Given the description of an element on the screen output the (x, y) to click on. 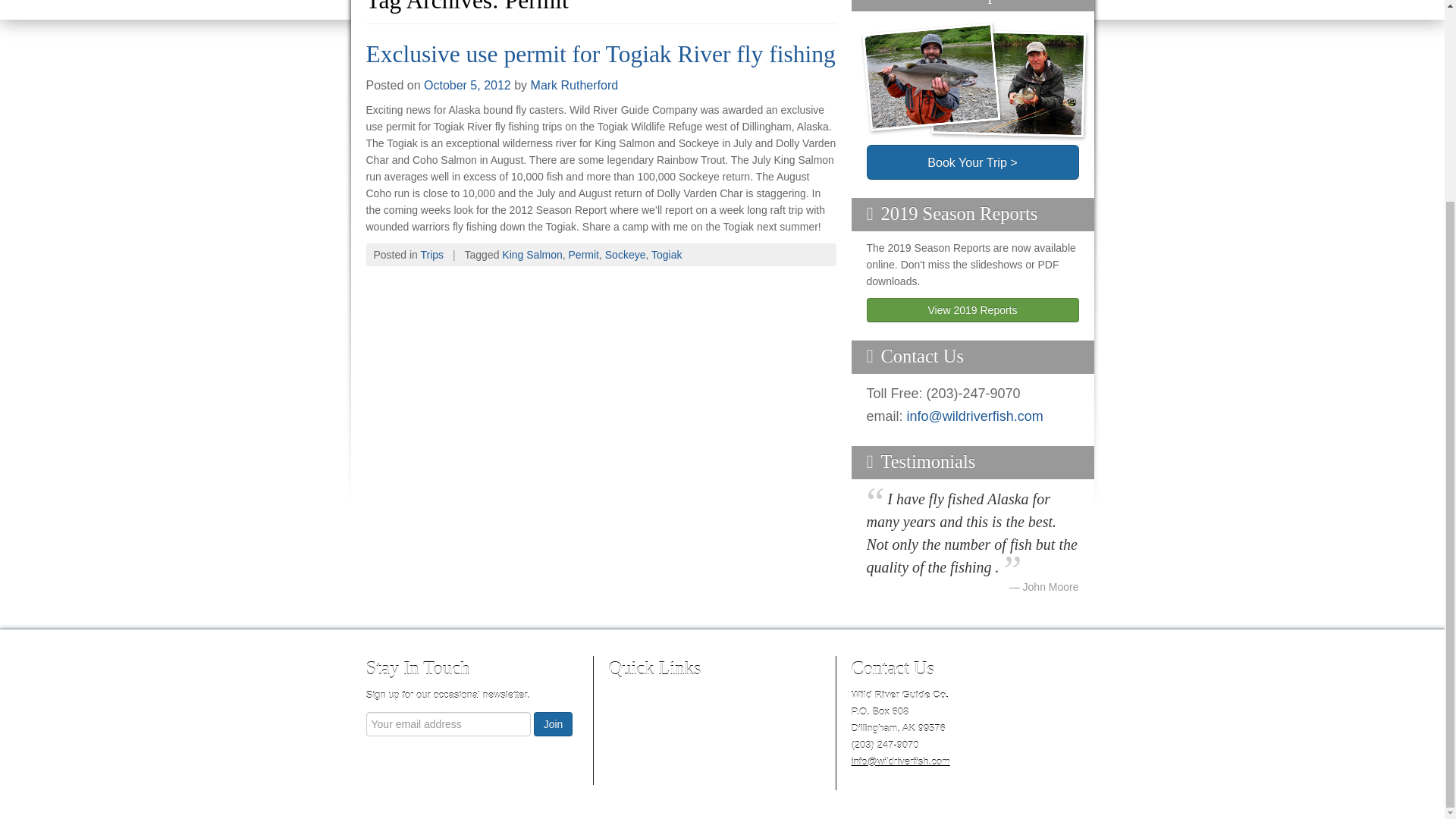
View all posts by Mark Rutherford (574, 84)
2:53 am (467, 84)
